Given the description of an element on the screen output the (x, y) to click on. 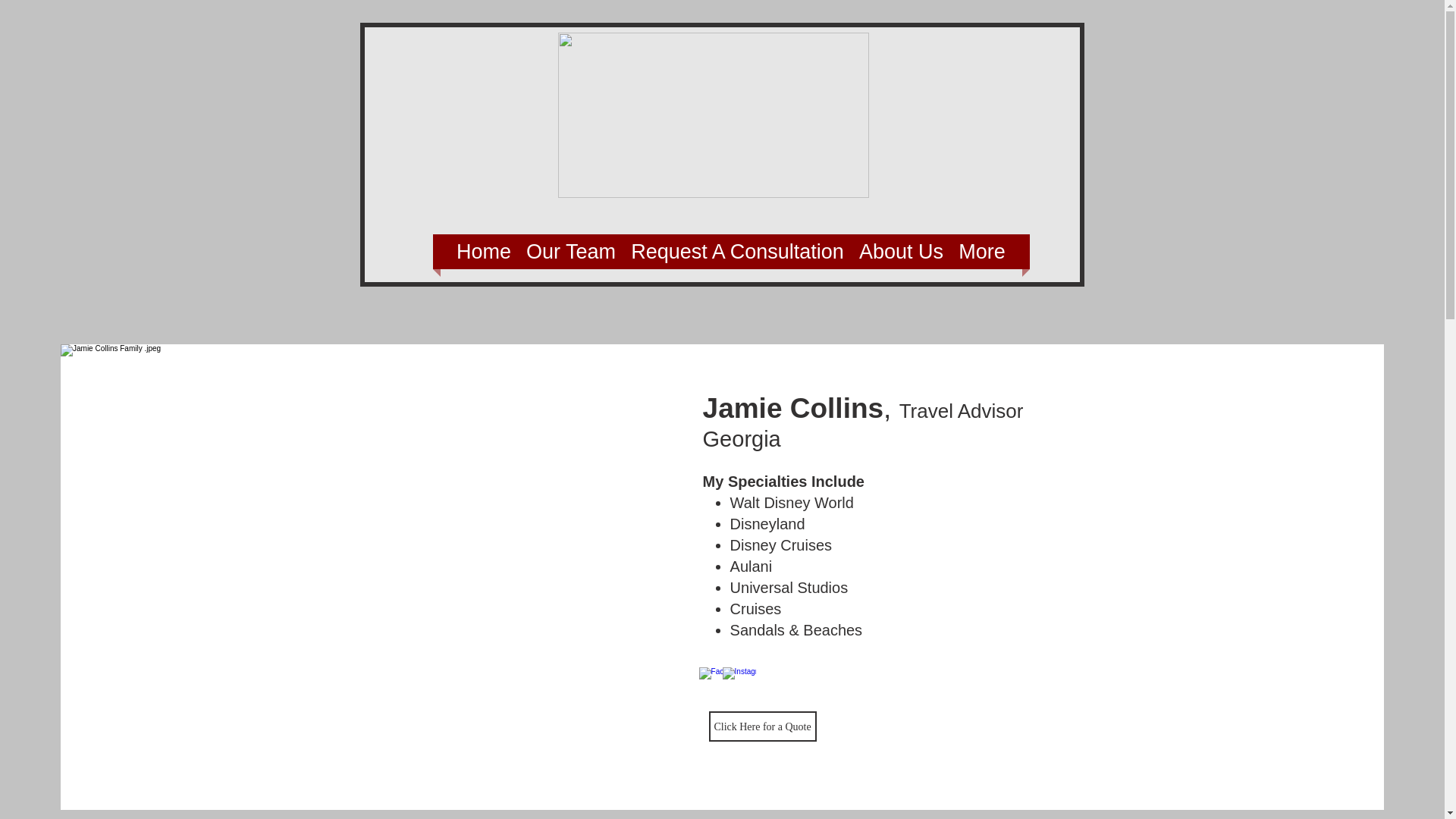
About Us (900, 251)
Home (483, 251)
Click Here for a Quote (762, 726)
Our Team (570, 251)
Request A Consultation (737, 251)
